Given the description of an element on the screen output the (x, y) to click on. 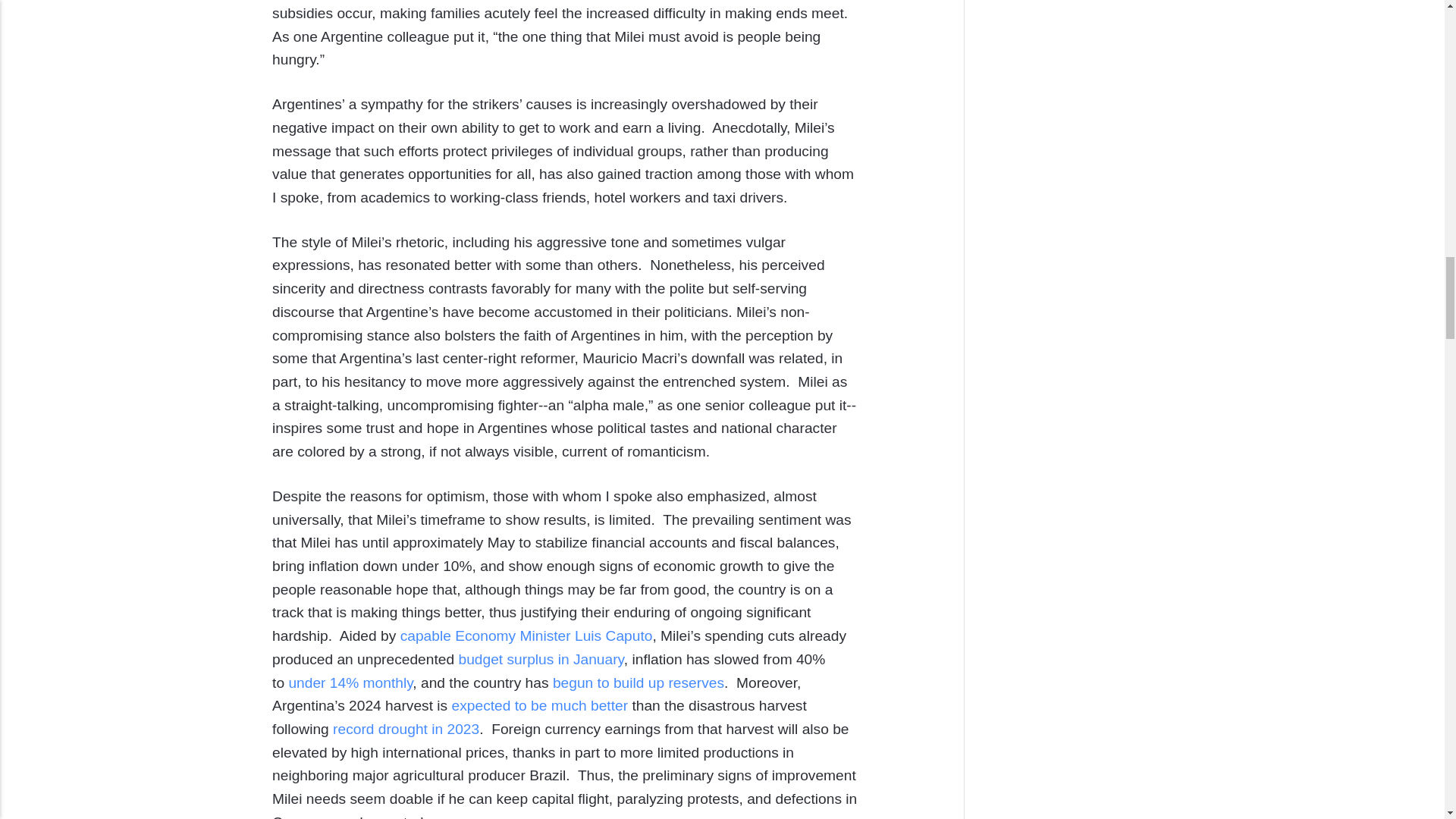
budget surplus in January (540, 659)
capable Economy Minister Luis Caputo (526, 635)
begun to build up reserves (638, 682)
expected to be much better (539, 705)
record drought in 2023 (406, 729)
